Given the description of an element on the screen output the (x, y) to click on. 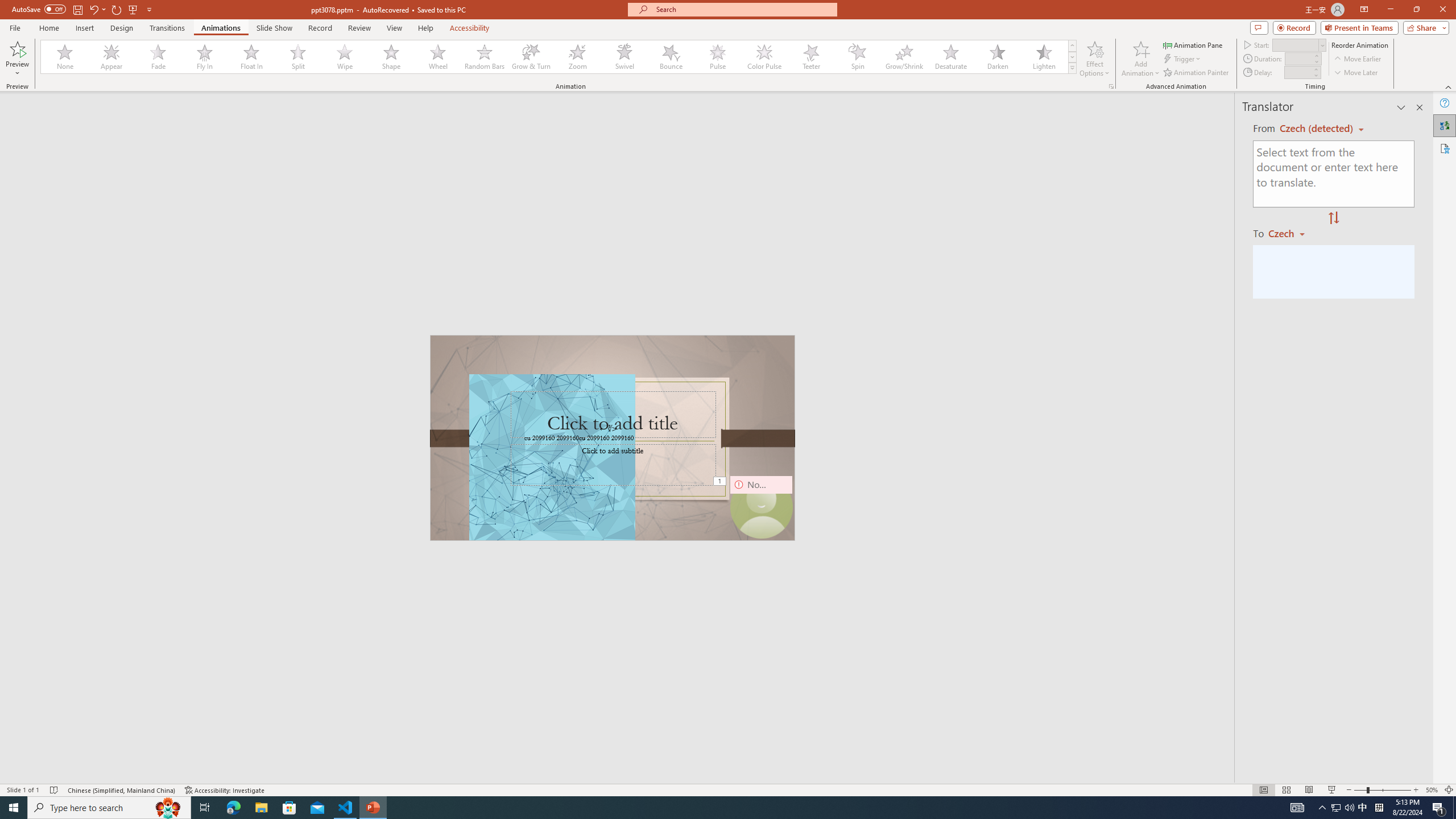
Camera 9, No camera detected. (761, 506)
TextBox 7 (608, 428)
An abstract genetic concept (612, 437)
Swap "from" and "to" languages. (1333, 218)
Animation Delay (1297, 72)
TextBox 61 (611, 438)
